Given the description of an element on the screen output the (x, y) to click on. 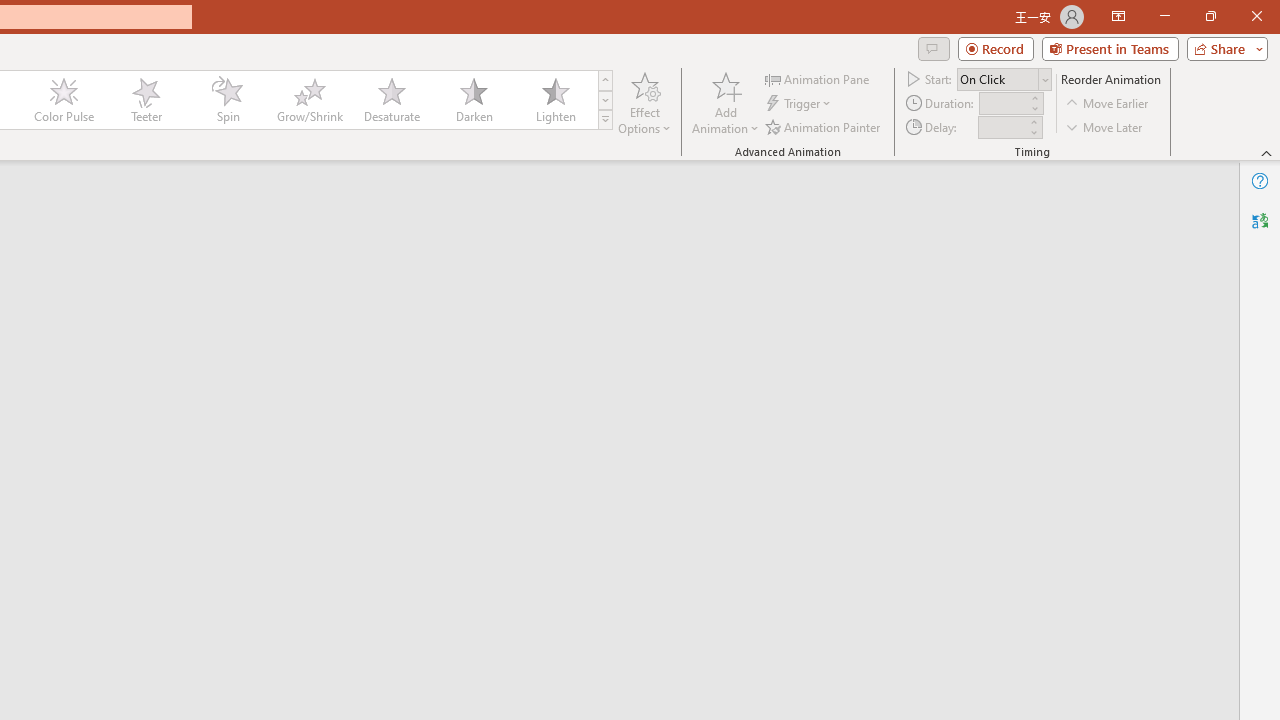
Desaturate (391, 100)
Trigger (799, 103)
Lighten (555, 100)
Animation Delay (1002, 127)
Darken (473, 100)
